Given the description of an element on the screen output the (x, y) to click on. 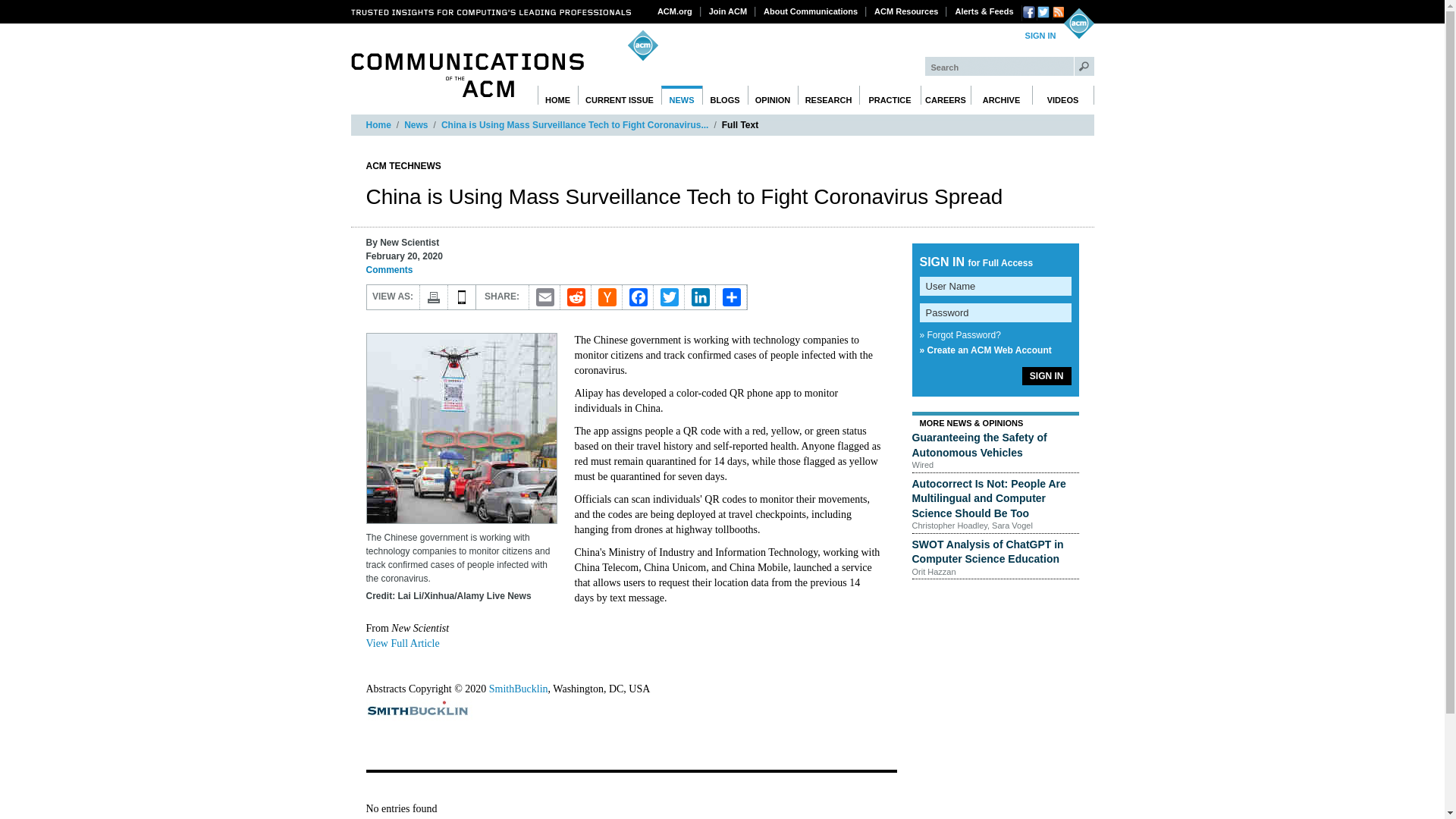
HOME (557, 94)
About Communications (810, 11)
Communications of the ACM (466, 75)
CURRENT ISSUE (620, 94)
BLOGS (724, 94)
ACM (1077, 23)
About Communications (810, 11)
OPINION (772, 94)
ACM.org (674, 11)
SIGN IN (1041, 35)
ACM Resources (906, 11)
MOBILE APPS (461, 297)
Go (1084, 66)
CAREERS (945, 94)
